Given the description of an element on the screen output the (x, y) to click on. 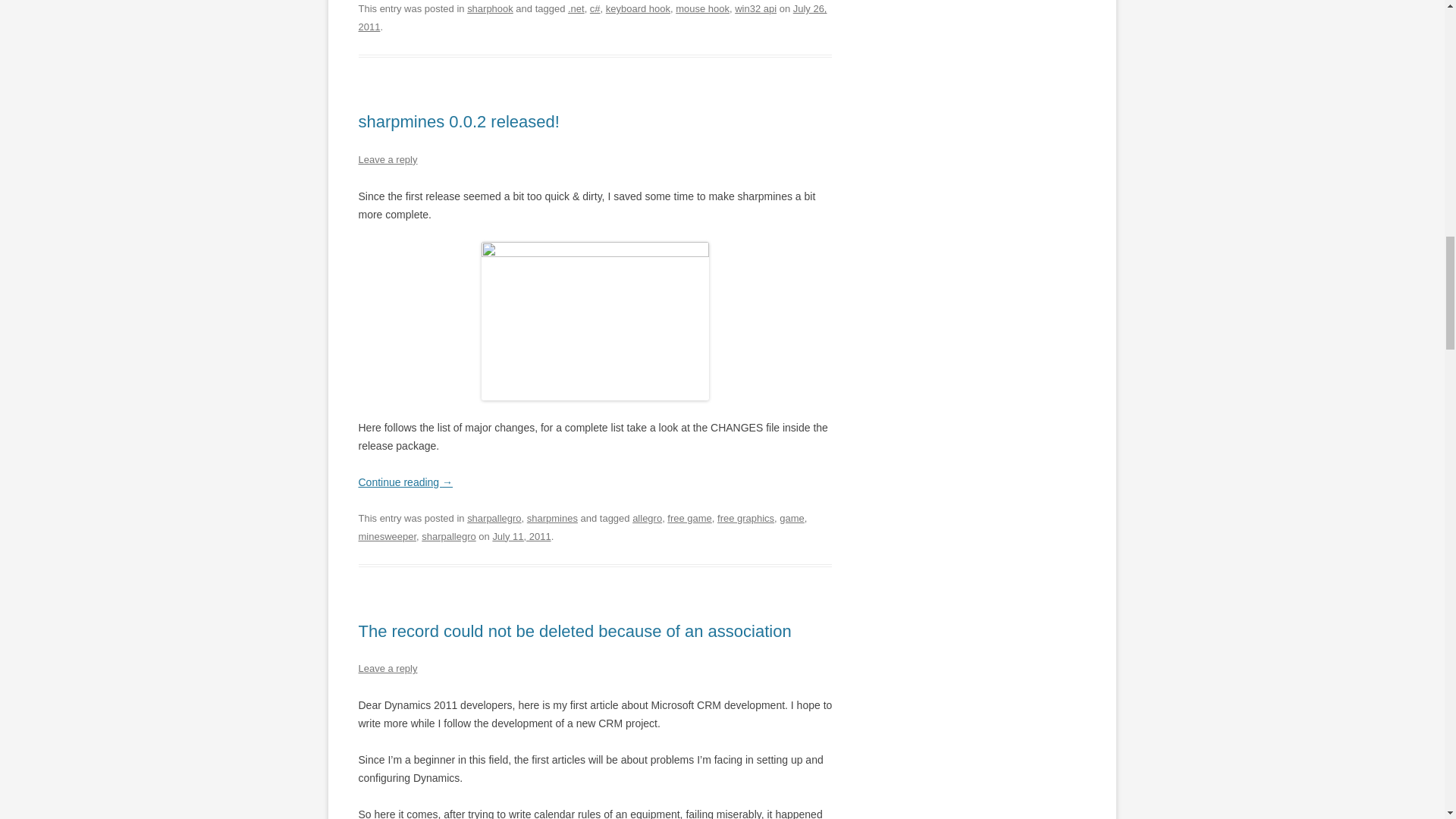
Permalink to sharpmines 0.0.2 released! (458, 121)
11:05 am (592, 17)
12:41 pm (521, 536)
sharpmines-screenshot (595, 320)
